Given the description of an element on the screen output the (x, y) to click on. 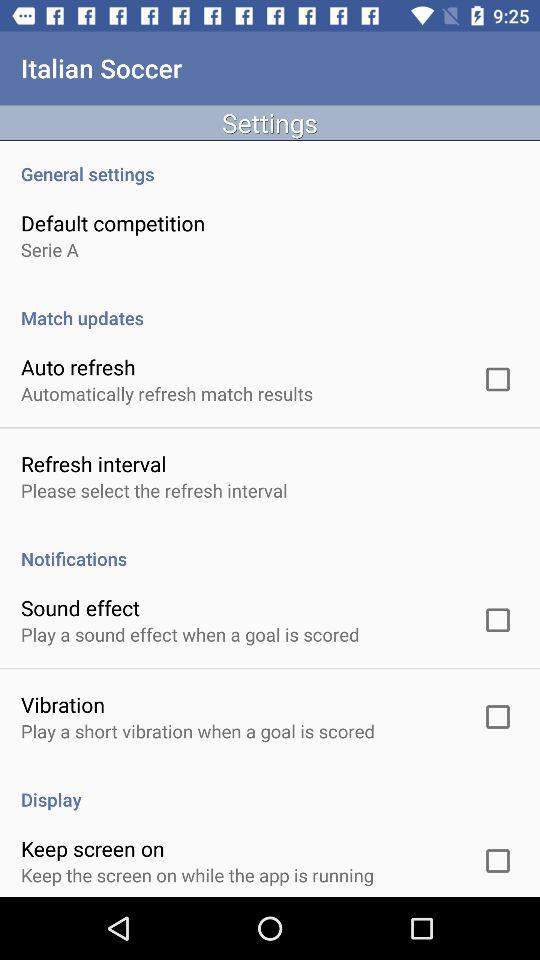
flip to notifications app (270, 548)
